Given the description of an element on the screen output the (x, y) to click on. 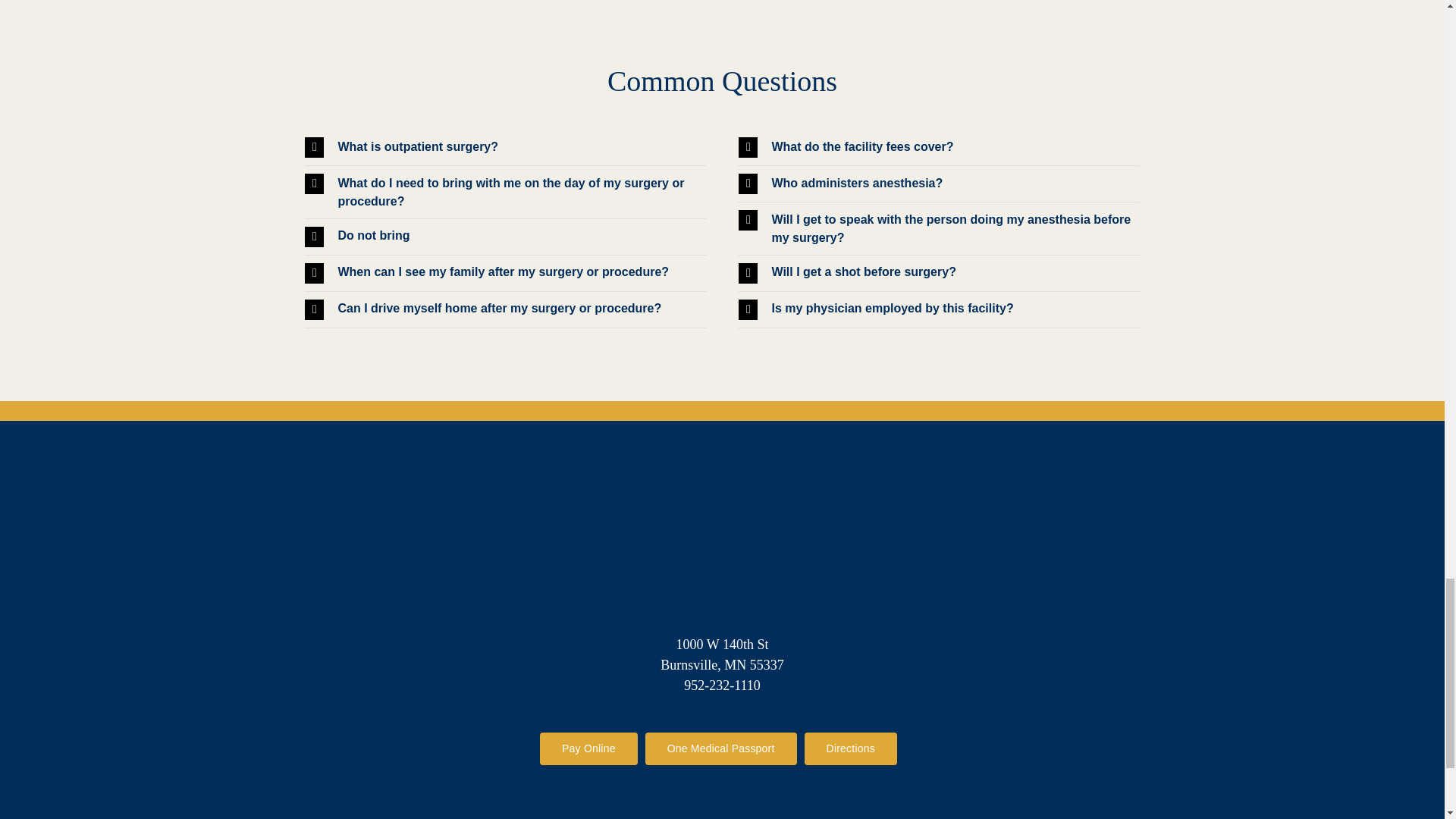
mvsc-logo-2023-v2 (722, 556)
Do not bring (504, 236)
What is outpatient surgery? (504, 147)
